Given the description of an element on the screen output the (x, y) to click on. 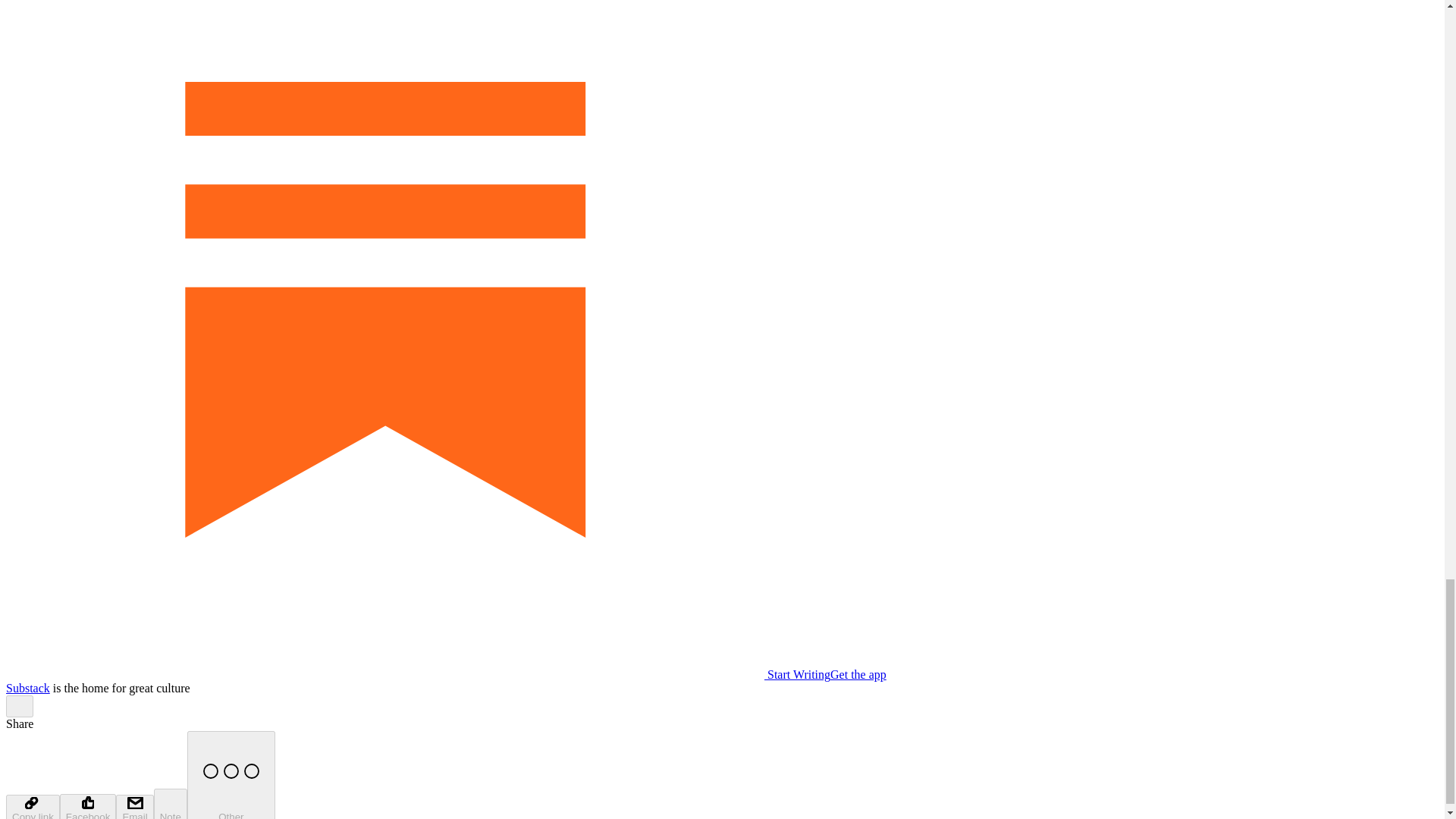
Substack (27, 687)
Get the app (857, 674)
Start Writing (417, 674)
